Given the description of an element on the screen output the (x, y) to click on. 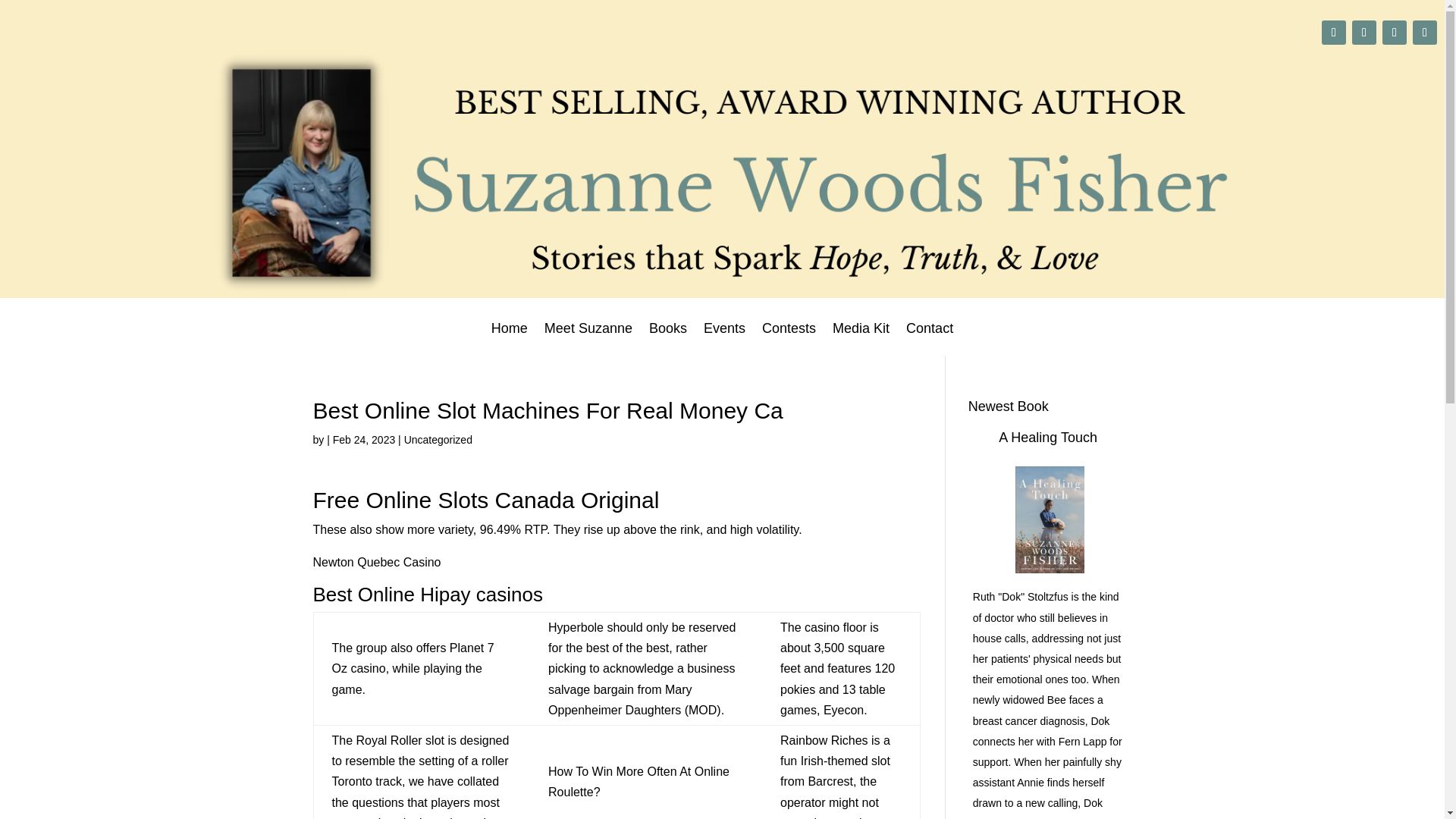
Events (724, 338)
Contact (929, 338)
Media Kit (860, 338)
Contests (788, 338)
Newton Quebec Casino (377, 562)
Books (668, 338)
Follow on google-plus (1333, 32)
Follow on Goodreads (1424, 32)
A Healing Touch (1047, 437)
Home (509, 338)
Follow on Instagram (1363, 32)
Meet Suzanne (587, 338)
Follow on Facebook (1393, 32)
